Given the description of an element on the screen output the (x, y) to click on. 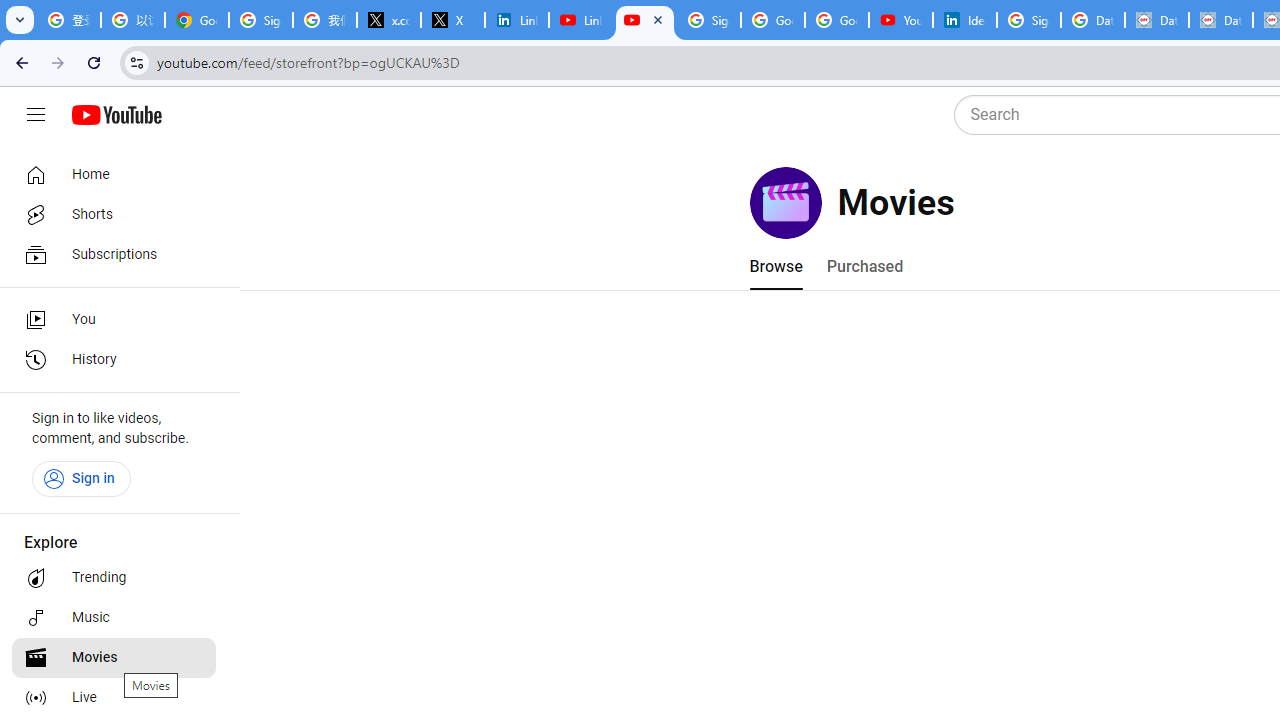
Subscriptions (113, 254)
X (453, 20)
Movies (113, 657)
Data Privacy Framework (1157, 20)
Sign in - Google Accounts (709, 20)
Browse (775, 266)
